Given the description of an element on the screen output the (x, y) to click on. 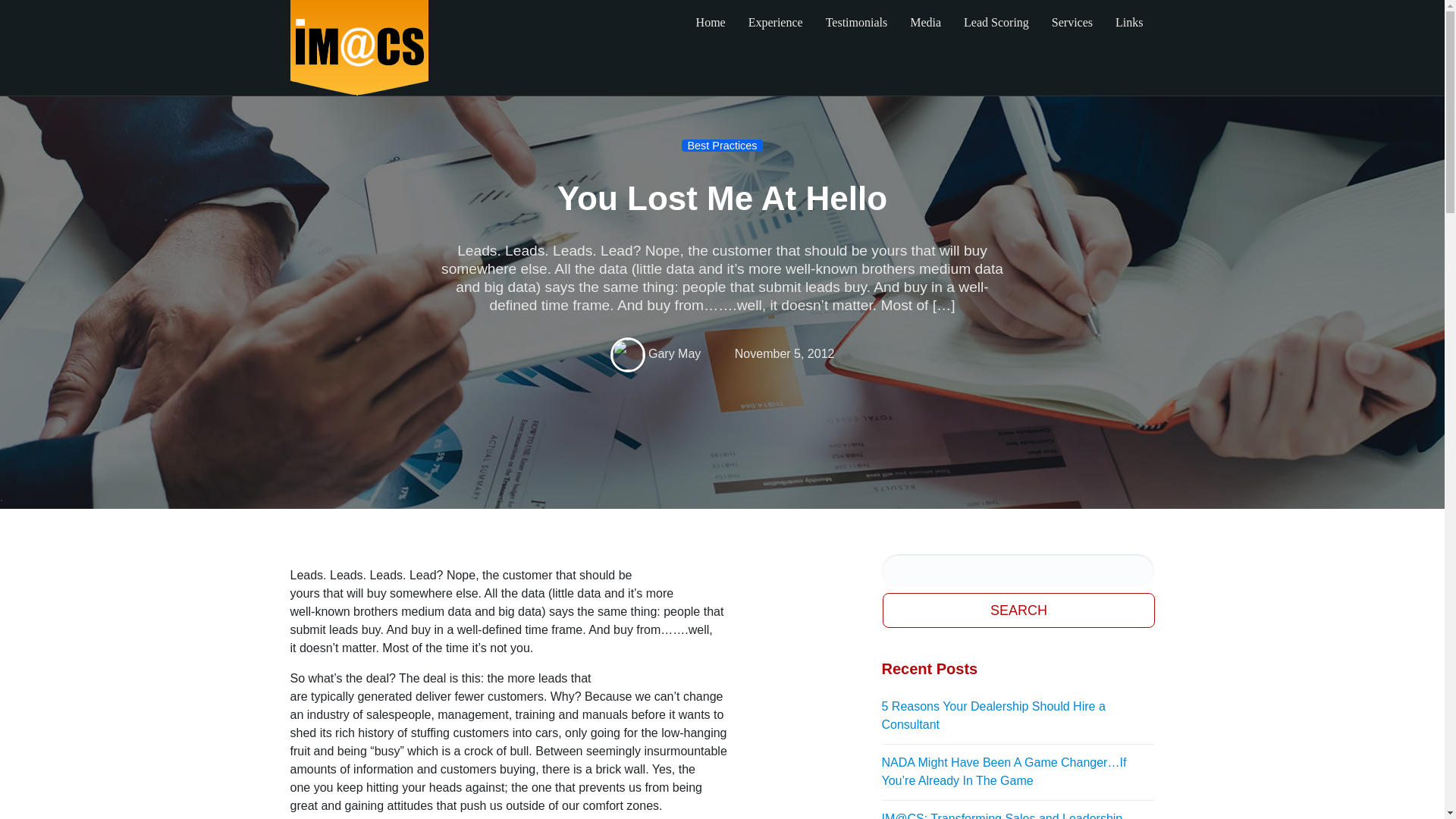
Lead Scoring (996, 22)
Search (1019, 610)
Experience (774, 22)
November 5, 2012 (784, 353)
5 Reasons Your Dealership Should Hire a Consultant (1017, 715)
Testimonials (856, 22)
Links (1128, 22)
Best Practices (721, 145)
Gary May (673, 353)
Services (1072, 22)
